Given the description of an element on the screen output the (x, y) to click on. 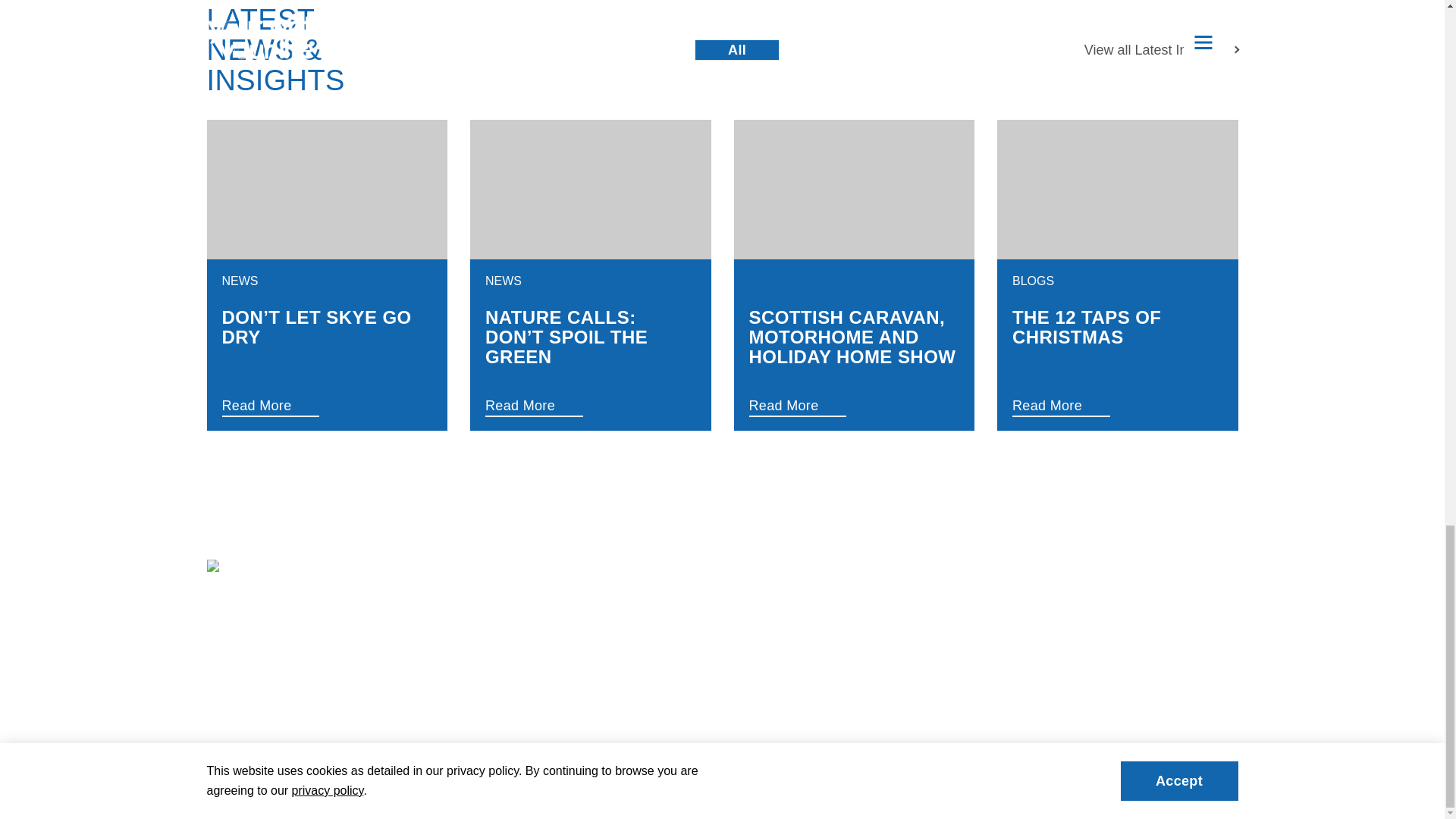
View all Latest Insights (1161, 49)
Read More (303, 405)
THE 12 TAPS OF CHRISTMAS (1117, 327)
Photo by martin bennie on Unsplash (326, 189)
Read More (1094, 405)
SCOTTISH CARAVAN, MOTORHOME AND HOLIDAY HOME SHOW (854, 336)
Read More (567, 405)
Read More (831, 405)
